Given the description of an element on the screen output the (x, y) to click on. 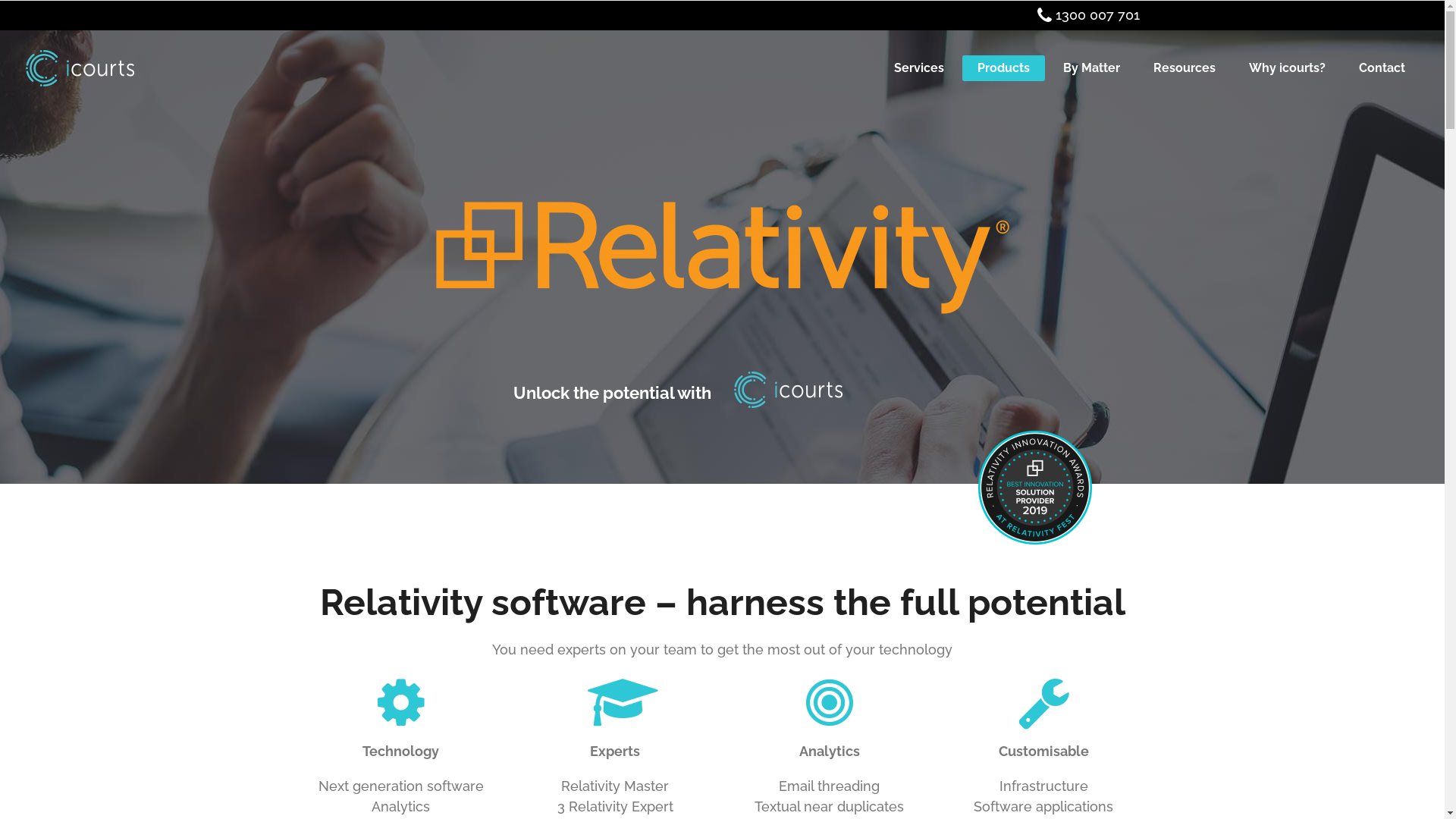
Contact Element type: text (1381, 68)
1300 007 701 Element type: text (1097, 14)
icourts_refresh_logo_White_Blue_Inline Element type: hover (788, 389)
By Matter Element type: text (1091, 68)
Products Element type: text (1003, 68)
Why icourts? Element type: text (1286, 68)
relativity-logo-300 Element type: hover (721, 257)
2019-innoawards-rgb_solution-provider-color Element type: hover (1035, 487)
Services Element type: text (918, 68)
Resources Element type: text (1184, 68)
